Given the description of an element on the screen output the (x, y) to click on. 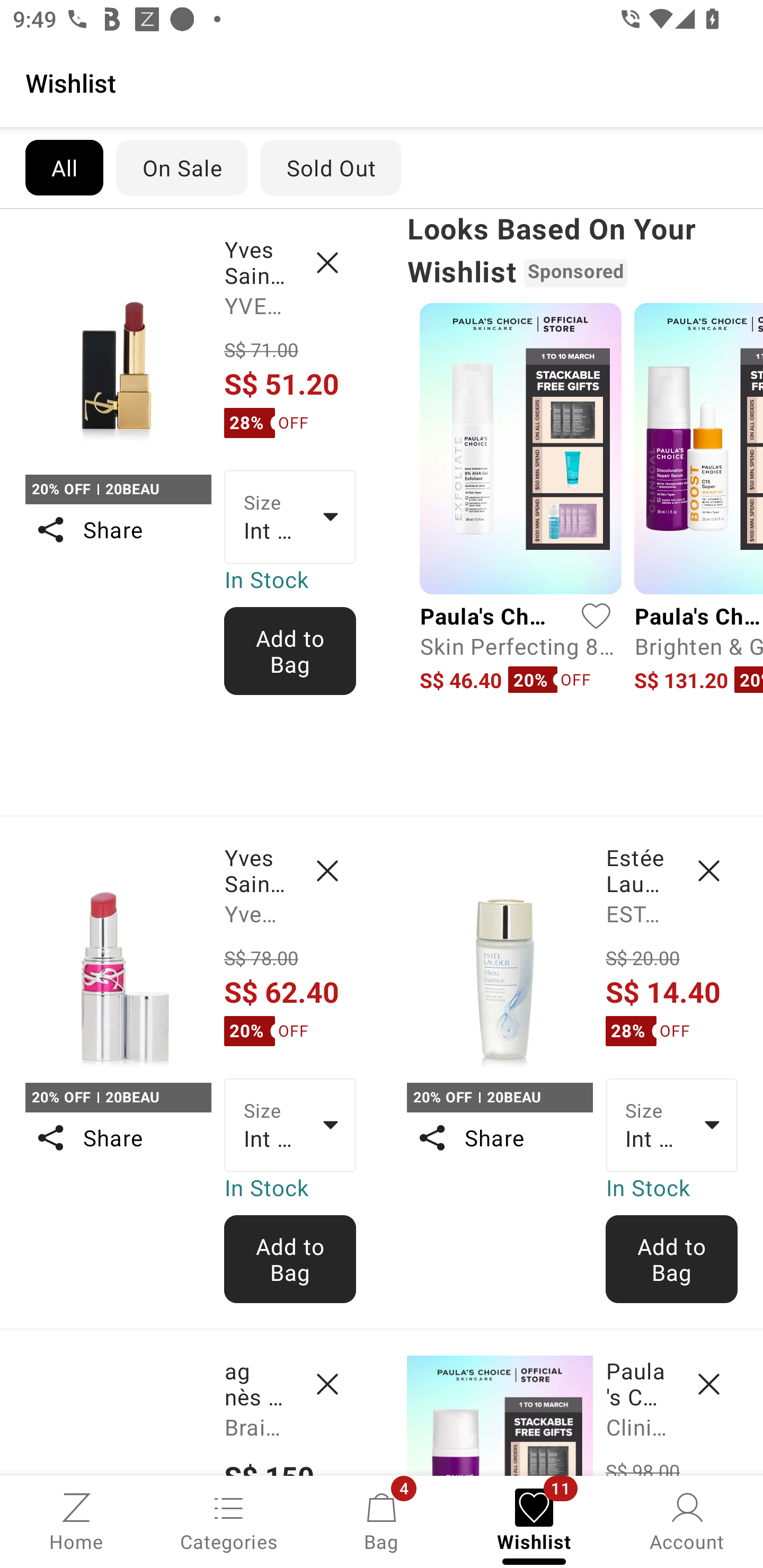
Wishlist (381, 82)
All (64, 167)
On Sale (181, 167)
Sold Out (330, 167)
Size Int One Size (290, 517)
Share (118, 529)
Add to Bag (290, 650)
Size Int One Size (290, 1125)
Size Int One Size (671, 1125)
Share (118, 1137)
Share (499, 1137)
Add to Bag (290, 1259)
Add to Bag (671, 1259)
Home (76, 1519)
Categories (228, 1519)
Bag, 4 new notifications Bag (381, 1519)
Account (686, 1519)
